Given the description of an element on the screen output the (x, y) to click on. 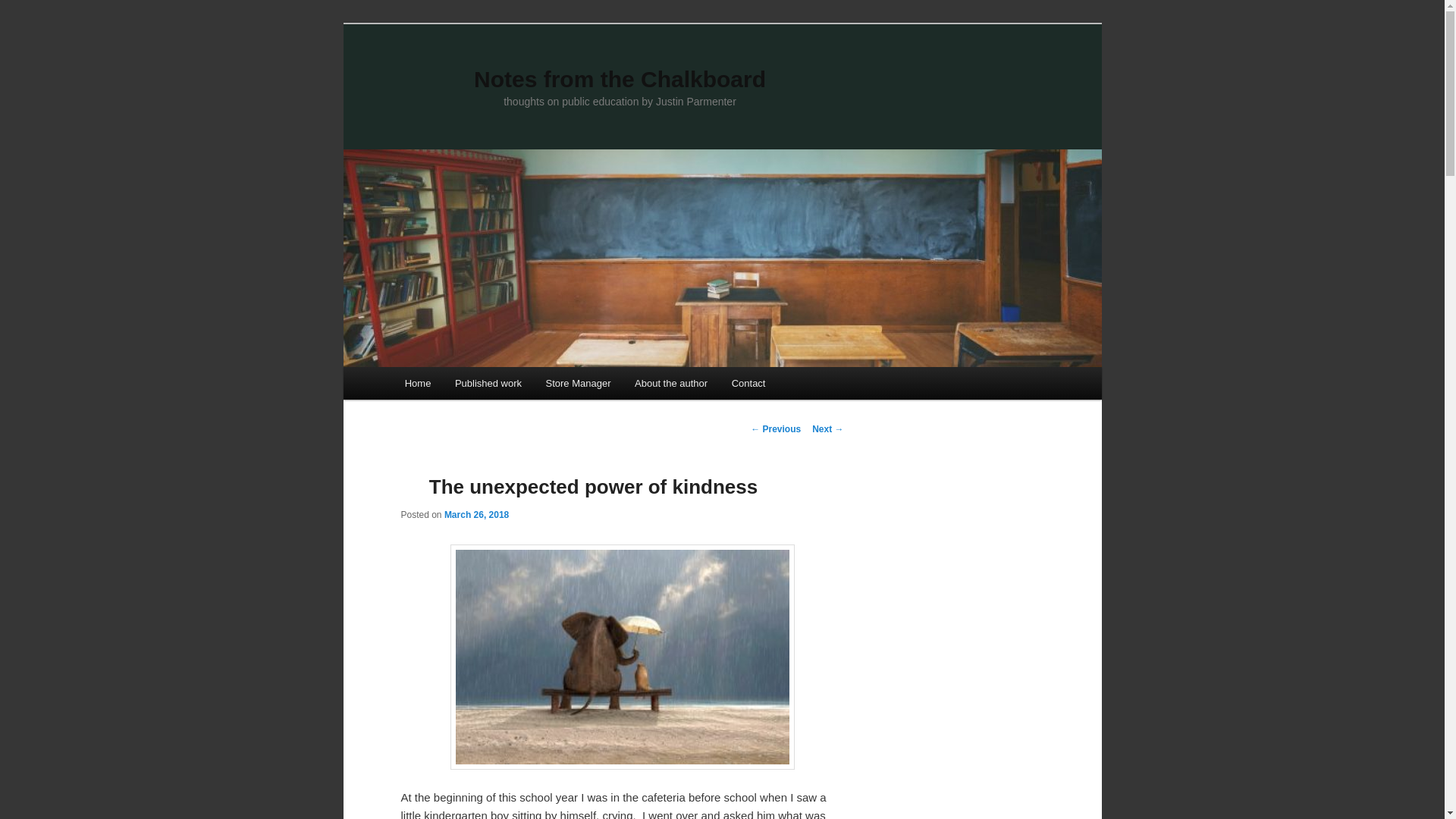
Notes from the Chalkboard (619, 78)
About the author (671, 382)
March 26, 2018 (476, 514)
Contact (748, 382)
7:38 pm (476, 514)
Published work (488, 382)
Search (21, 11)
Home (417, 382)
Store Manager (578, 382)
